Given the description of an element on the screen output the (x, y) to click on. 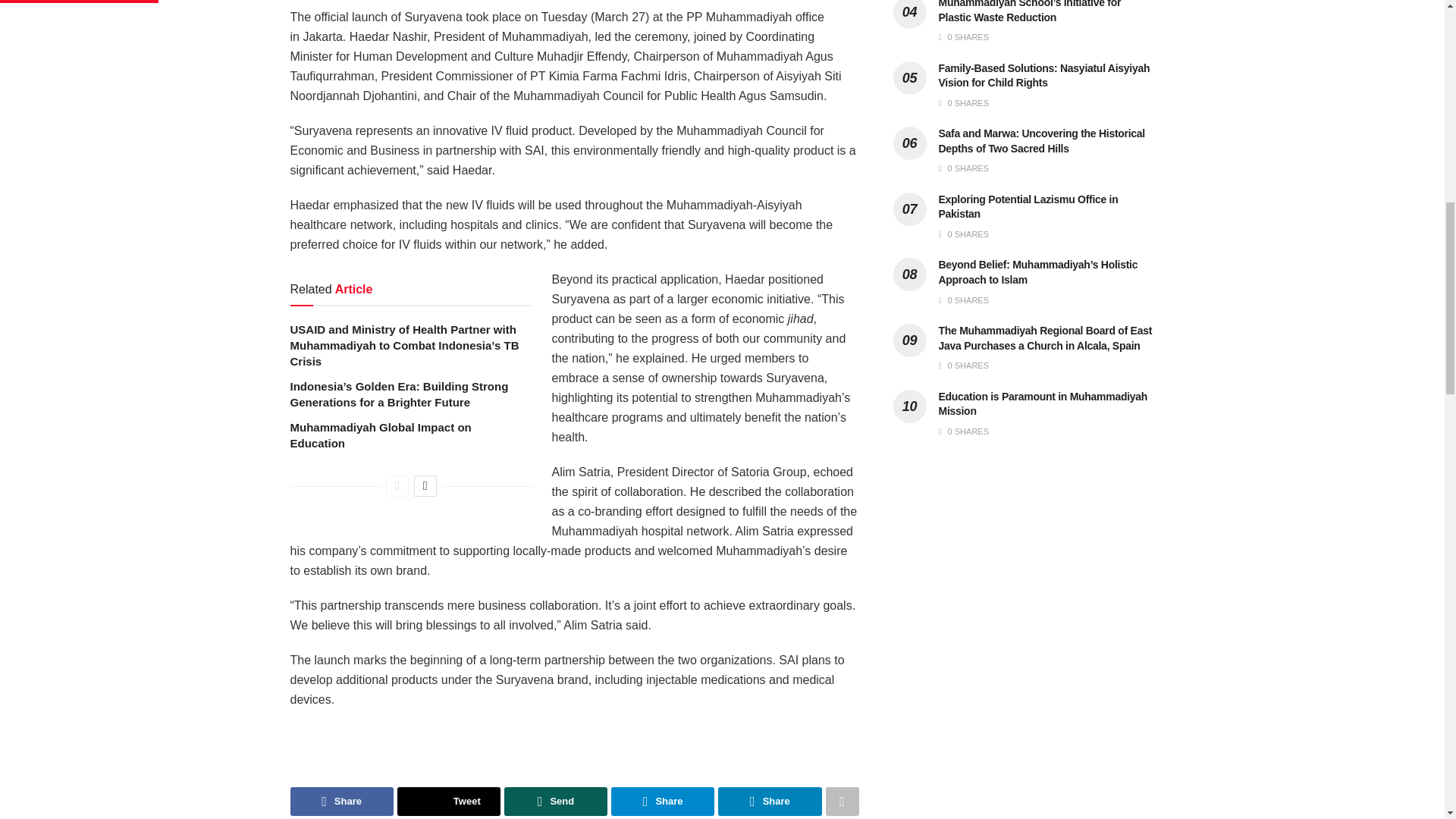
Next (424, 485)
Previous (397, 485)
